Given the description of an element on the screen output the (x, y) to click on. 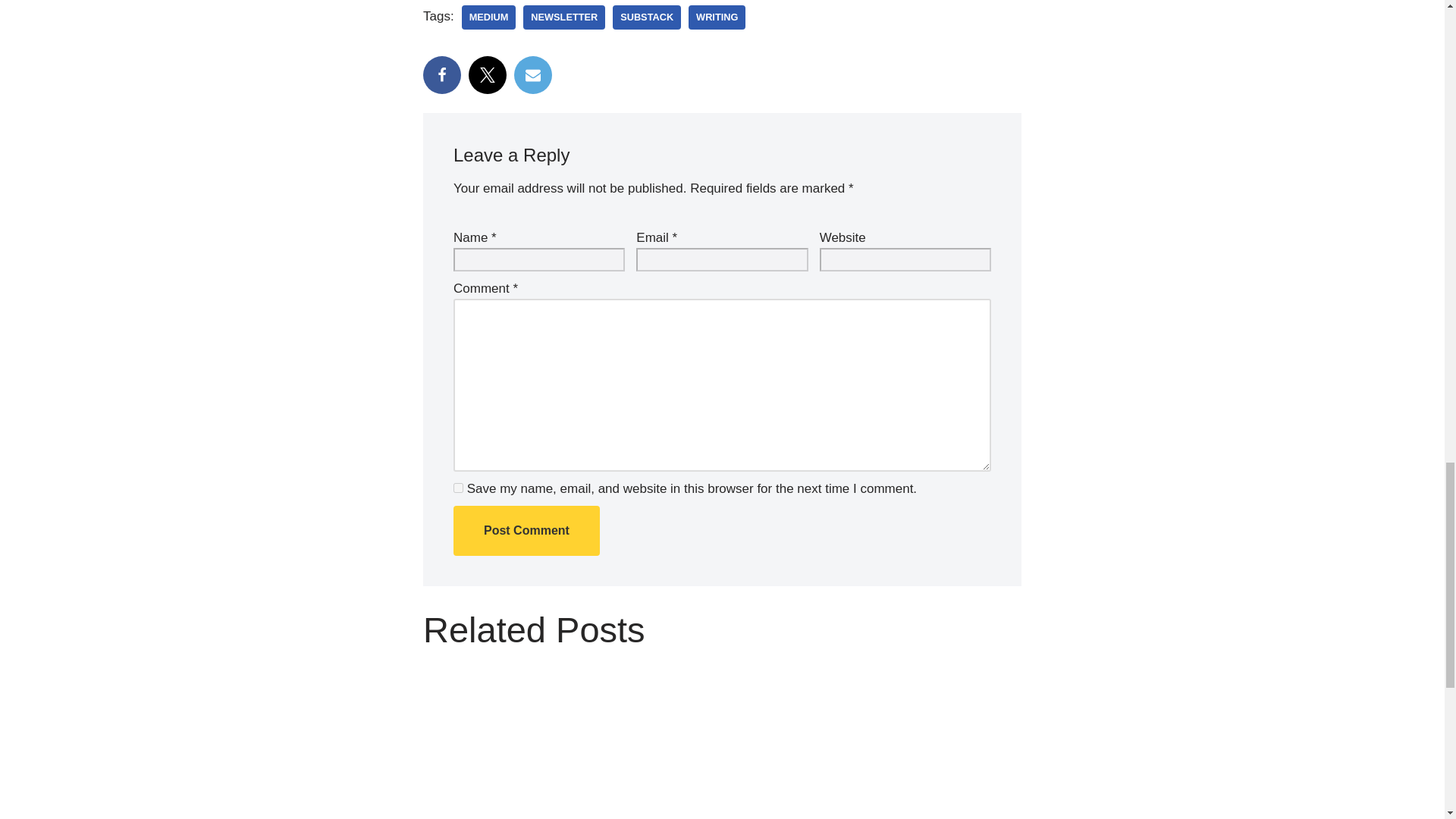
NEWSLETTER (563, 17)
Newsletter (563, 17)
Post Comment (525, 531)
MEDIUM (488, 17)
Post Comment (525, 531)
Facebook (442, 75)
WRITING (716, 17)
Email (532, 75)
Substack (646, 17)
Medium (488, 17)
X (487, 75)
yes (457, 488)
SUBSTACK (646, 17)
Writing (716, 17)
